Given the description of an element on the screen output the (x, y) to click on. 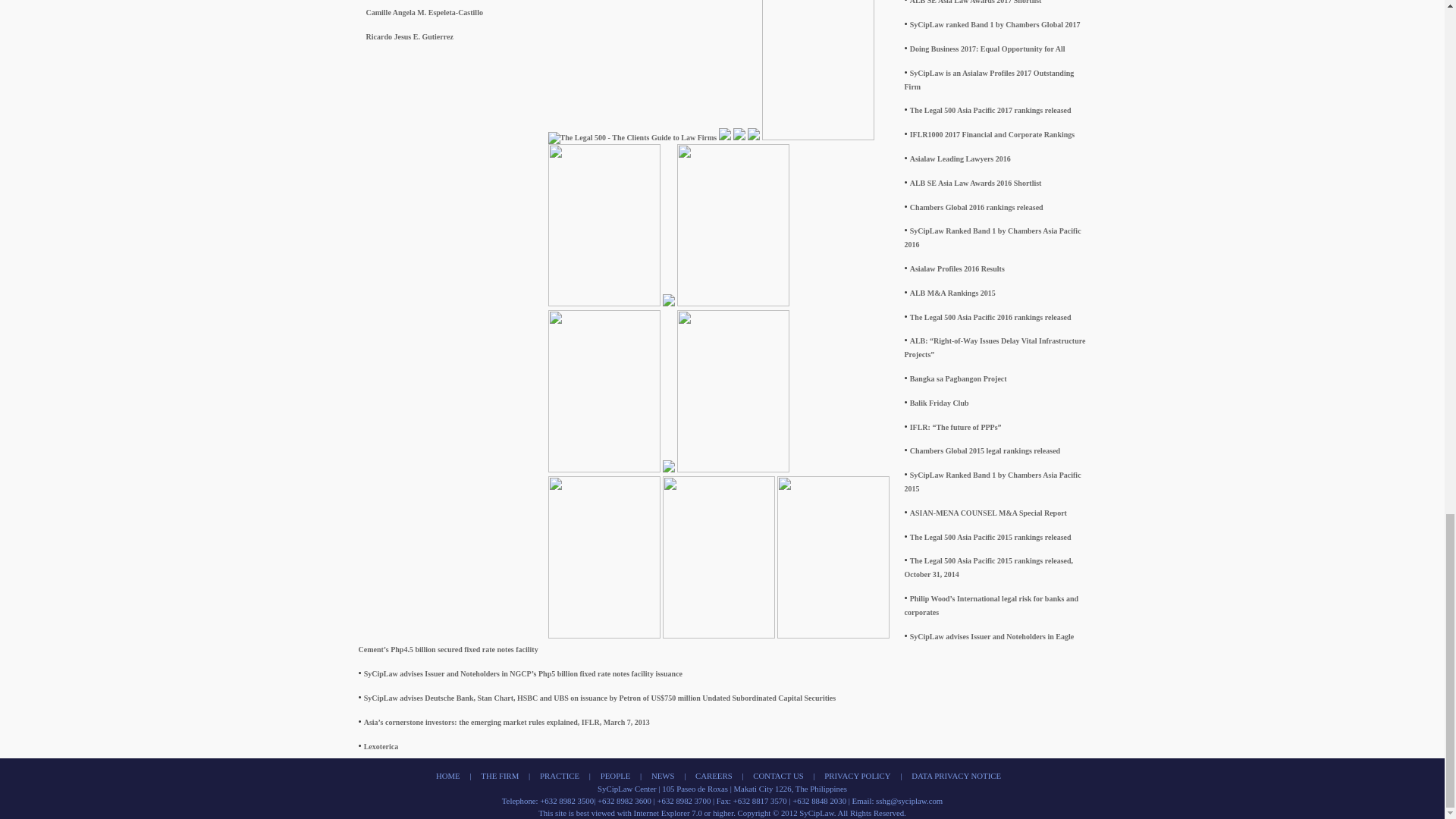
Our Lawyers (614, 775)
About SyCipLaw (499, 775)
Home Page (447, 775)
Practice Areas (559, 775)
News (662, 775)
News (713, 775)
